Given the description of an element on the screen output the (x, y) to click on. 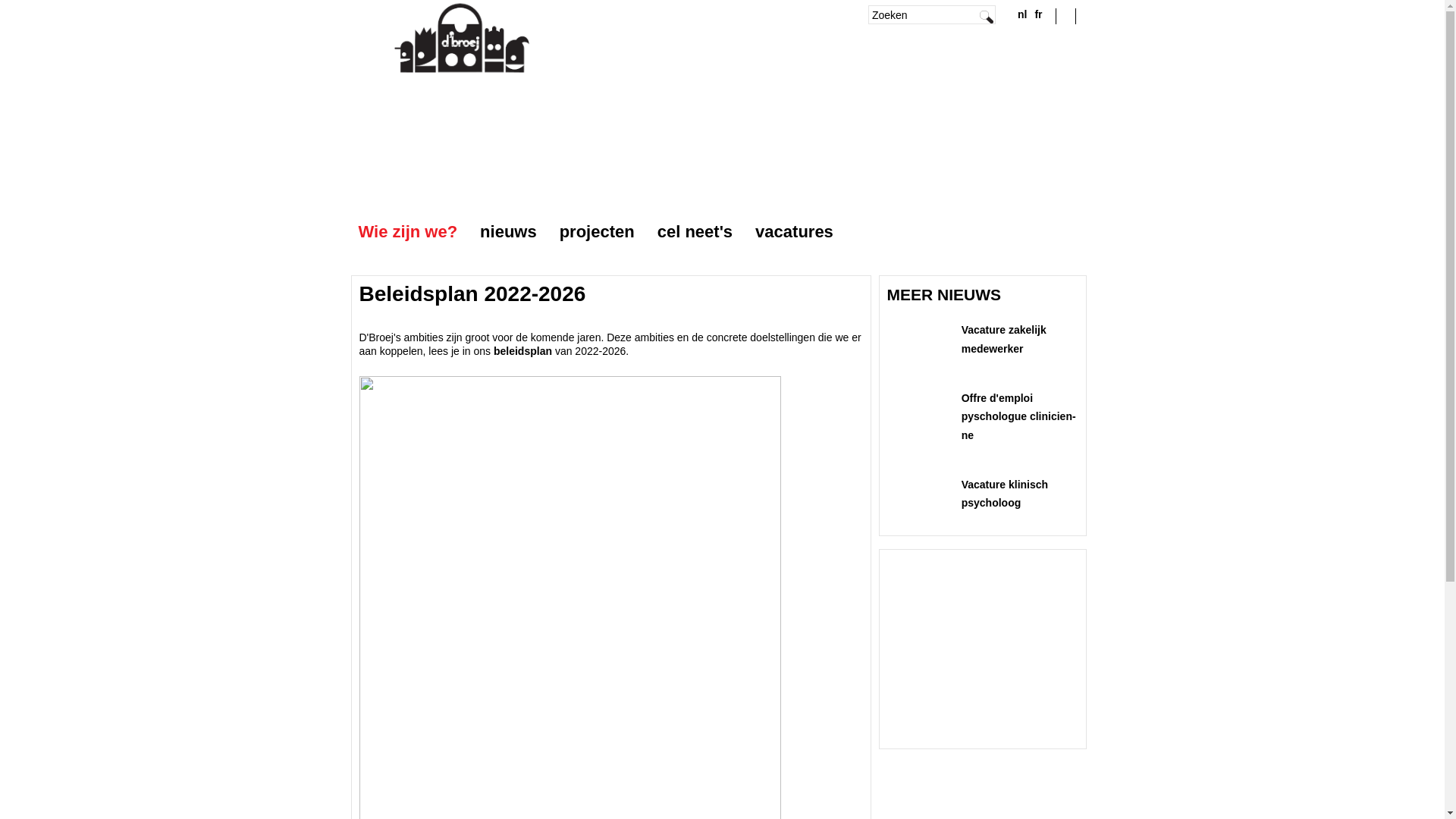
Facebook Element type: text (1065, 15)
fr Element type: text (1037, 14)
Vacature klinisch psycholoog Element type: text (1004, 493)
projecten Element type: text (596, 230)
beleidsplan Element type: text (522, 351)
Vacature zakelijk medewerker Element type: text (1003, 338)
cel neet's Element type: text (694, 230)
nieuws Element type: text (508, 230)
Home Element type: hover (460, 68)
Jump to navigation Element type: text (722, 2)
nl Element type: text (1021, 14)
MEER NIEUWS Element type: text (944, 293)
Wie zijn we? Element type: text (407, 230)
Offre d'emploi pyschologue clinicien-ne Element type: text (1018, 416)
vacatures Element type: text (794, 230)
